Given the description of an element on the screen output the (x, y) to click on. 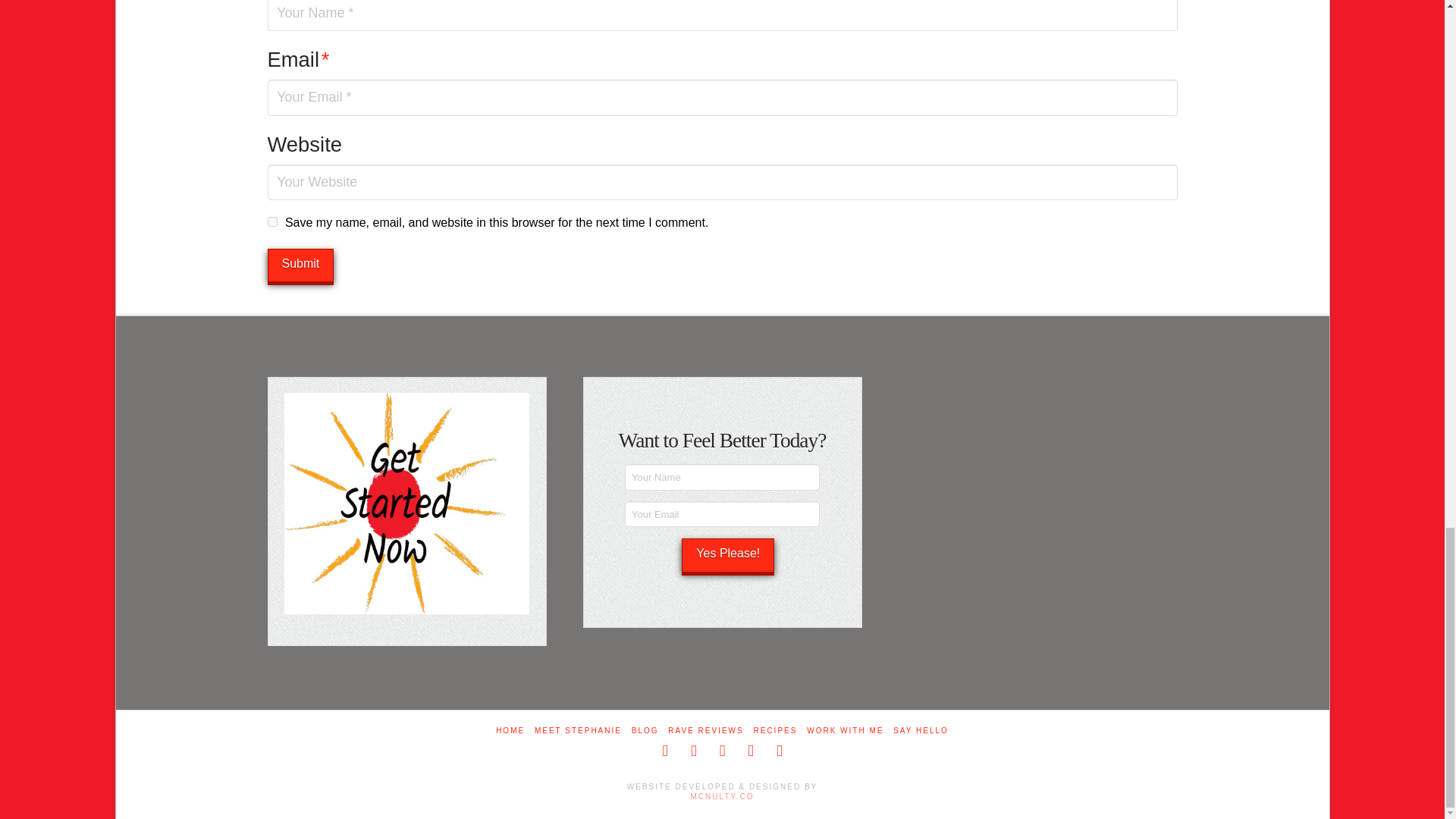
yes (271, 221)
RAVE REVIEWS (705, 730)
WORK WITH ME (844, 730)
Yes Please! (727, 555)
HOME (510, 730)
RECIPES (775, 730)
Work With Me! (405, 503)
SAY HELLO (921, 730)
BLOG (645, 730)
Submit (299, 265)
Yes Please! (727, 555)
MEET STEPHANIE (577, 730)
McNulty.co (722, 796)
Submit (299, 265)
